Given the description of an element on the screen output the (x, y) to click on. 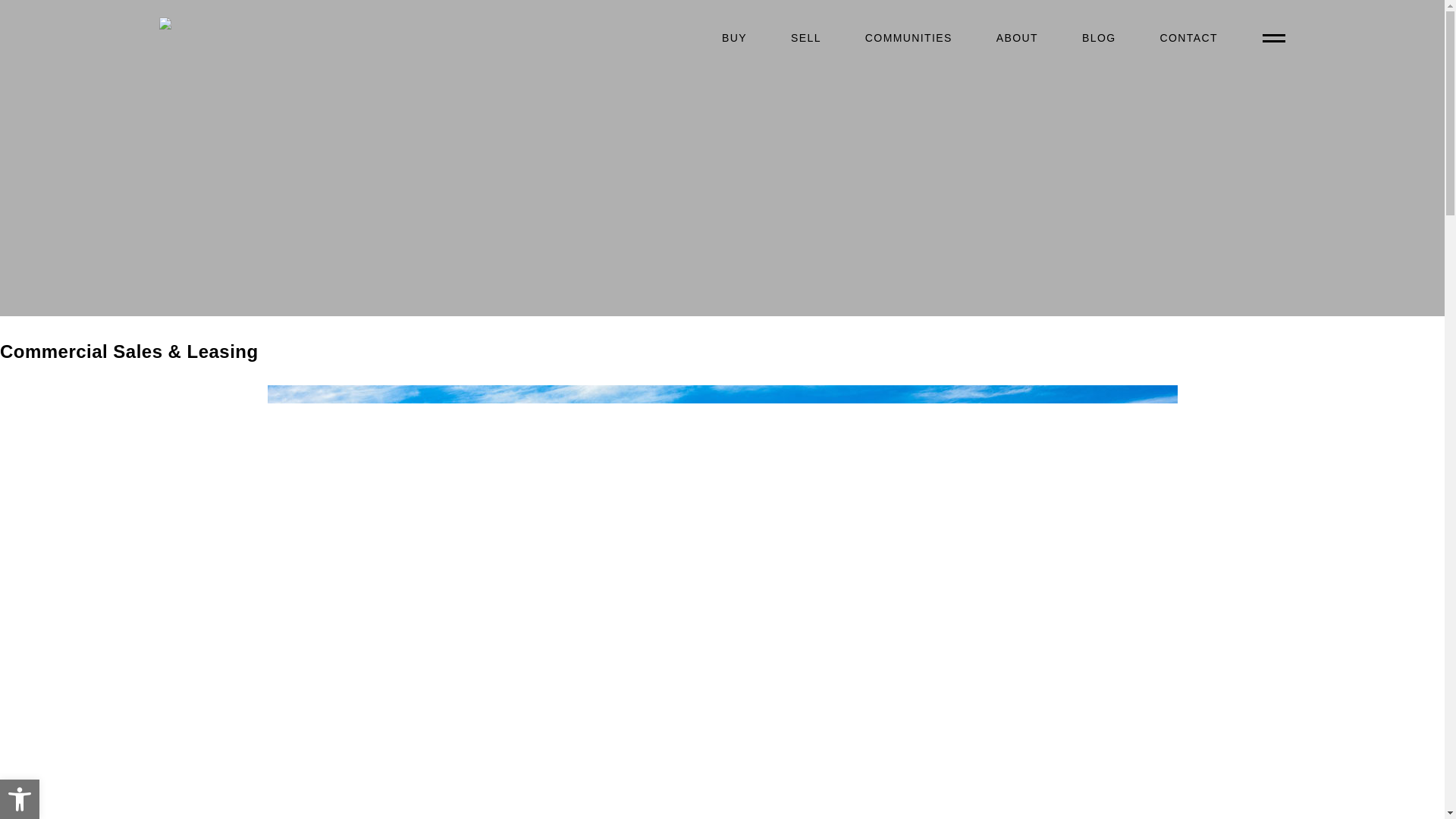
Accessibility Tools (19, 799)
COMMUNITIES (909, 37)
SELL (806, 37)
BUY (734, 37)
